Given the description of an element on the screen output the (x, y) to click on. 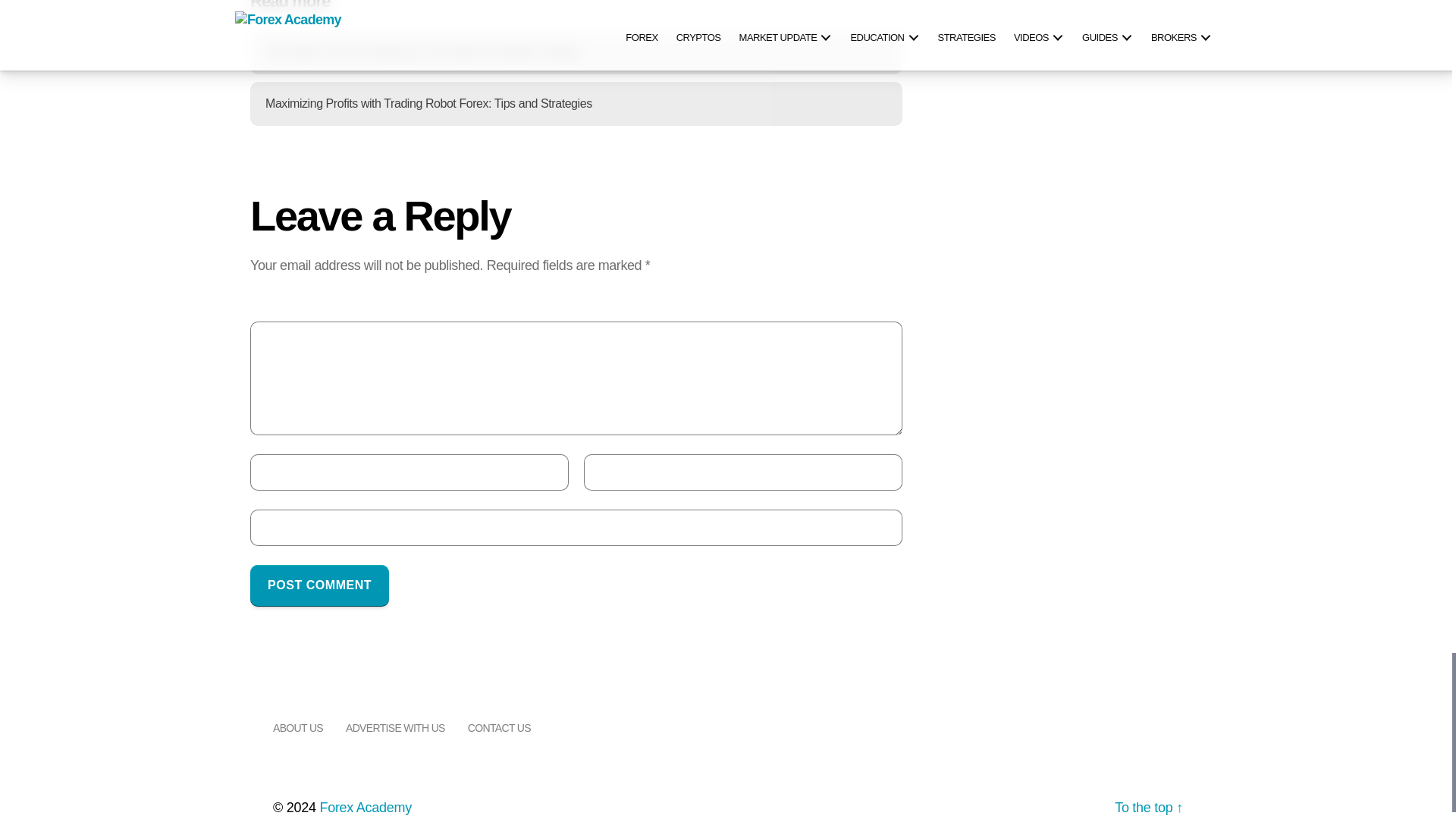
Post Comment (319, 585)
